Given the description of an element on the screen output the (x, y) to click on. 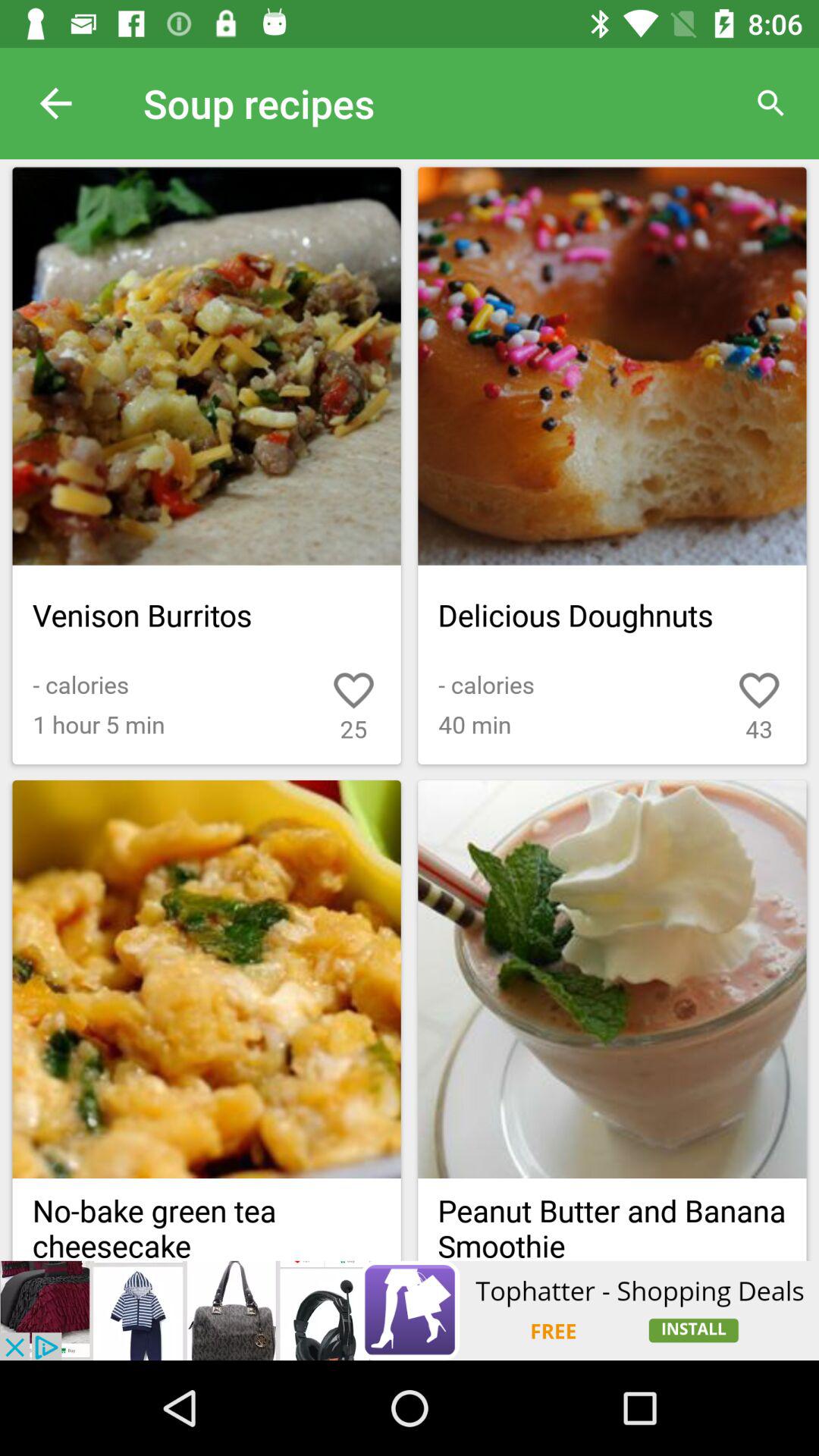
click on image which is at top right (611, 366)
click on the text above calories in first box (206, 615)
select the text which is below to the second row first column image (206, 1218)
